Given the description of an element on the screen output the (x, y) to click on. 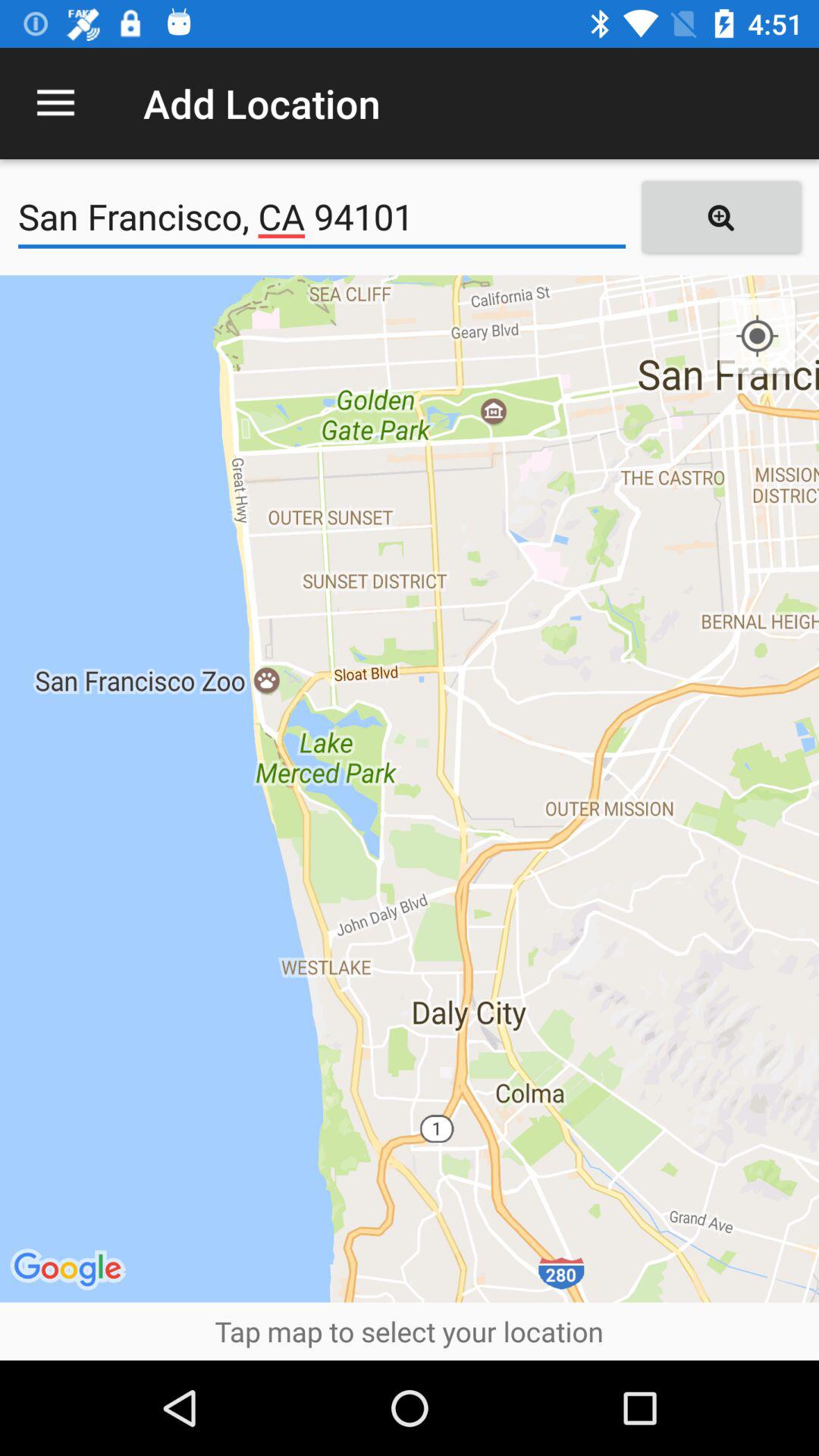
swipe to san francisco ca icon (321, 217)
